Given the description of an element on the screen output the (x, y) to click on. 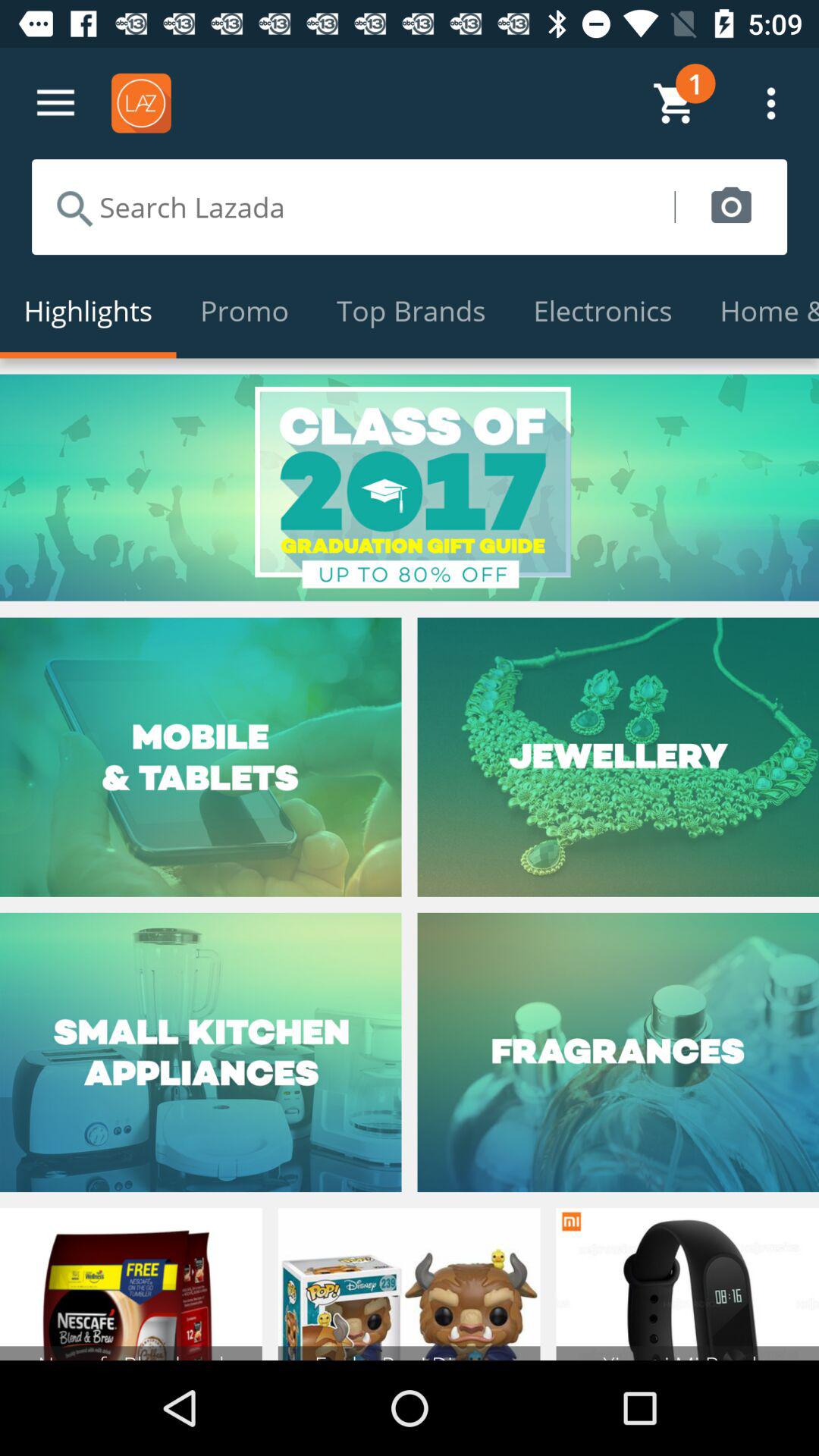
select class of 2017 banner (409, 487)
